Given the description of an element on the screen output the (x, y) to click on. 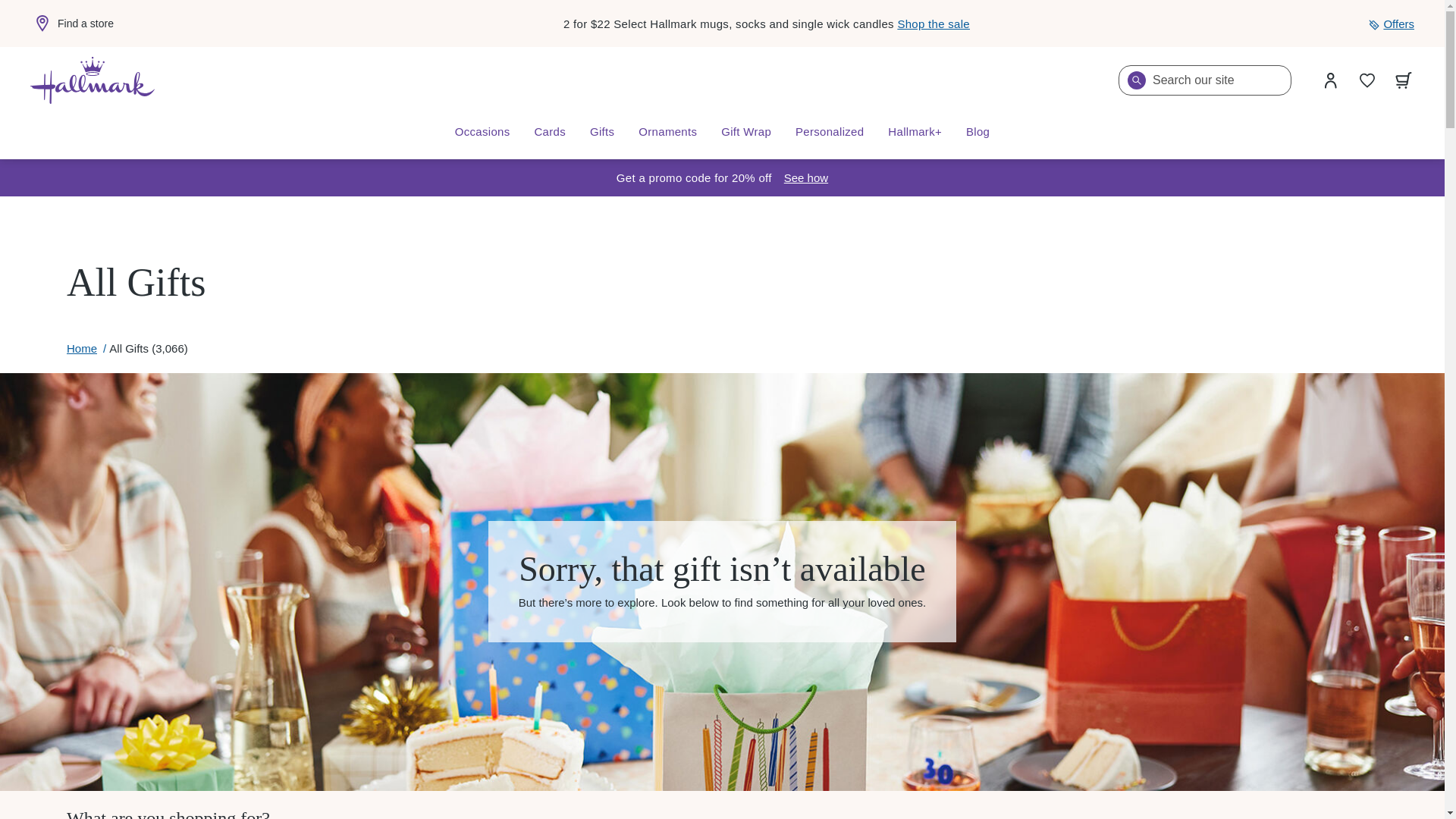
Favorites (1367, 80)
Open shipping dates modal (806, 177)
Search (1135, 80)
Home page (92, 80)
Find a store (71, 23)
Offers (1390, 23)
View your cart (1404, 80)
Shop the sale (932, 22)
